Given the description of an element on the screen output the (x, y) to click on. 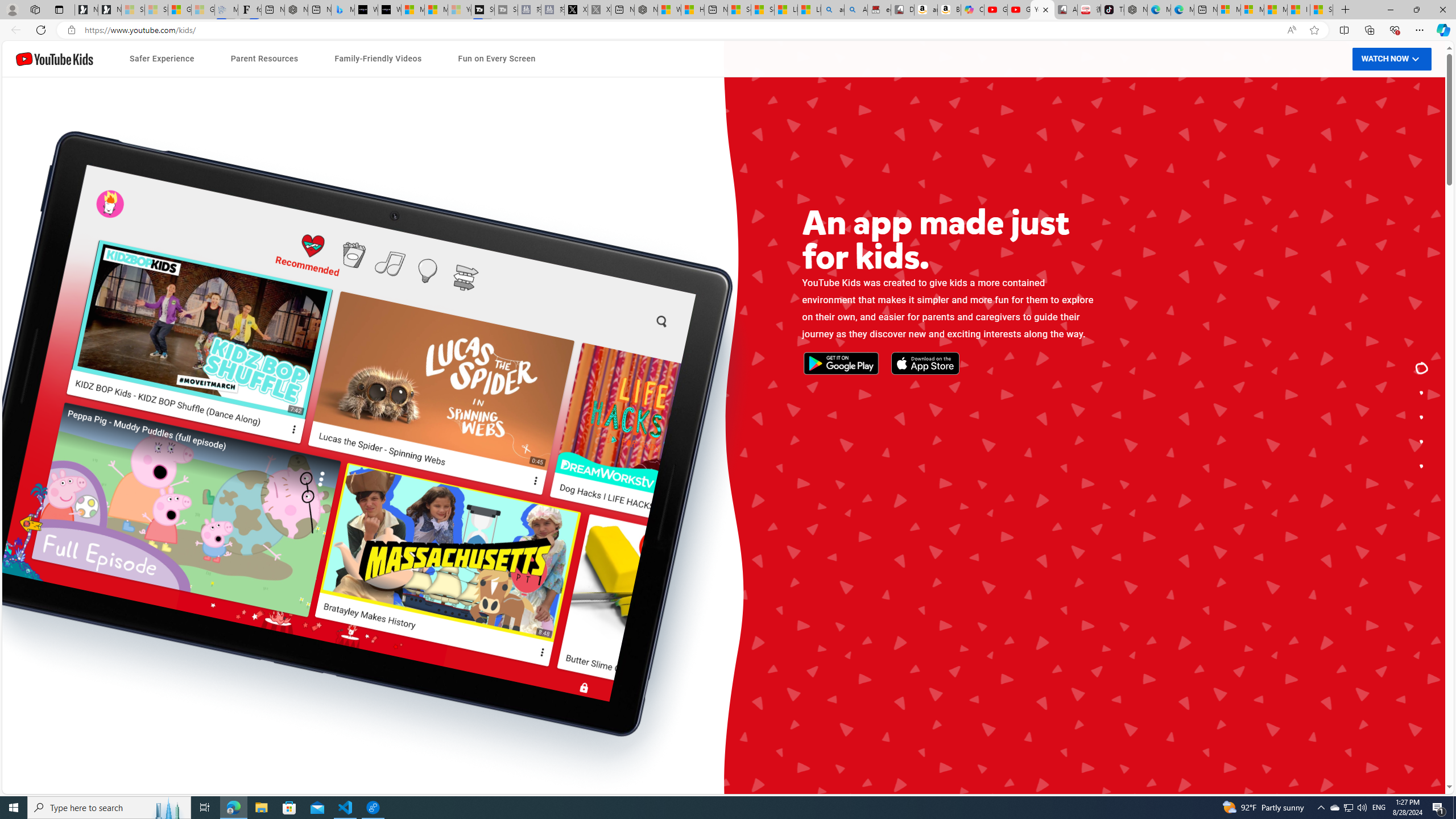
Family-Friendly Videos (378, 58)
An app made just for kids. (1421, 368)
01 Parent Approved + Collections (496, 479)
Tips and tools for your family. (1421, 417)
Parent Resources (264, 58)
www.youtubekids.com (579, 465)
02Content Level by Age (496, 502)
